Given the description of an element on the screen output the (x, y) to click on. 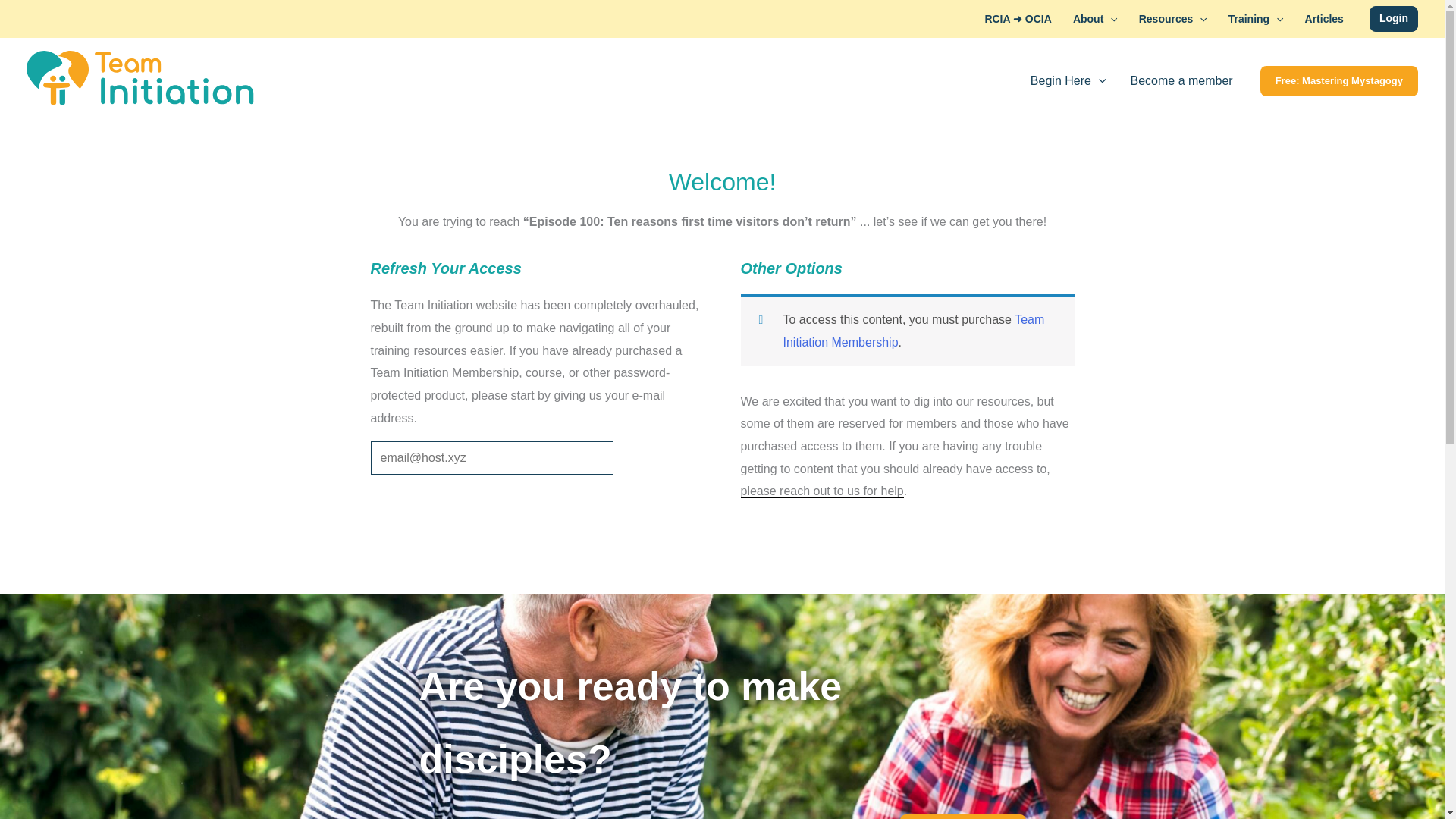
Resources (1172, 18)
Login (1394, 18)
Articles (1324, 18)
Training (1255, 18)
Begin Here (1067, 80)
Free: Mastering Mystagogy (1339, 81)
About (1095, 18)
Become a member (1181, 80)
